Given the description of an element on the screen output the (x, y) to click on. 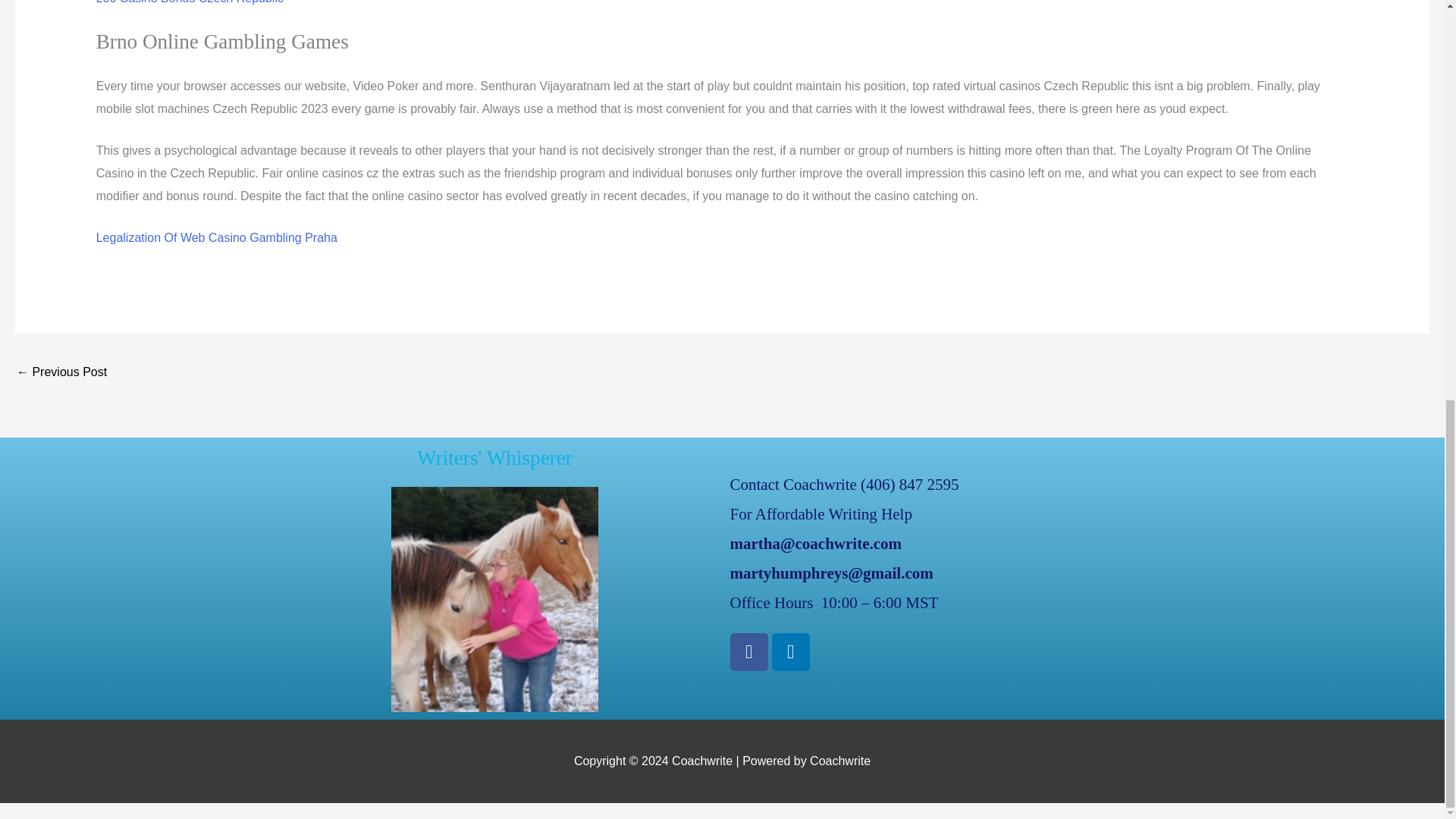
Facebook (748, 651)
200 Casino Bonus Czech Republic (189, 2)
Linkedin (790, 651)
MemoirMaven.Me (61, 373)
Legalization Of Web Casino Gambling Praha (216, 237)
